Given the description of an element on the screen output the (x, y) to click on. 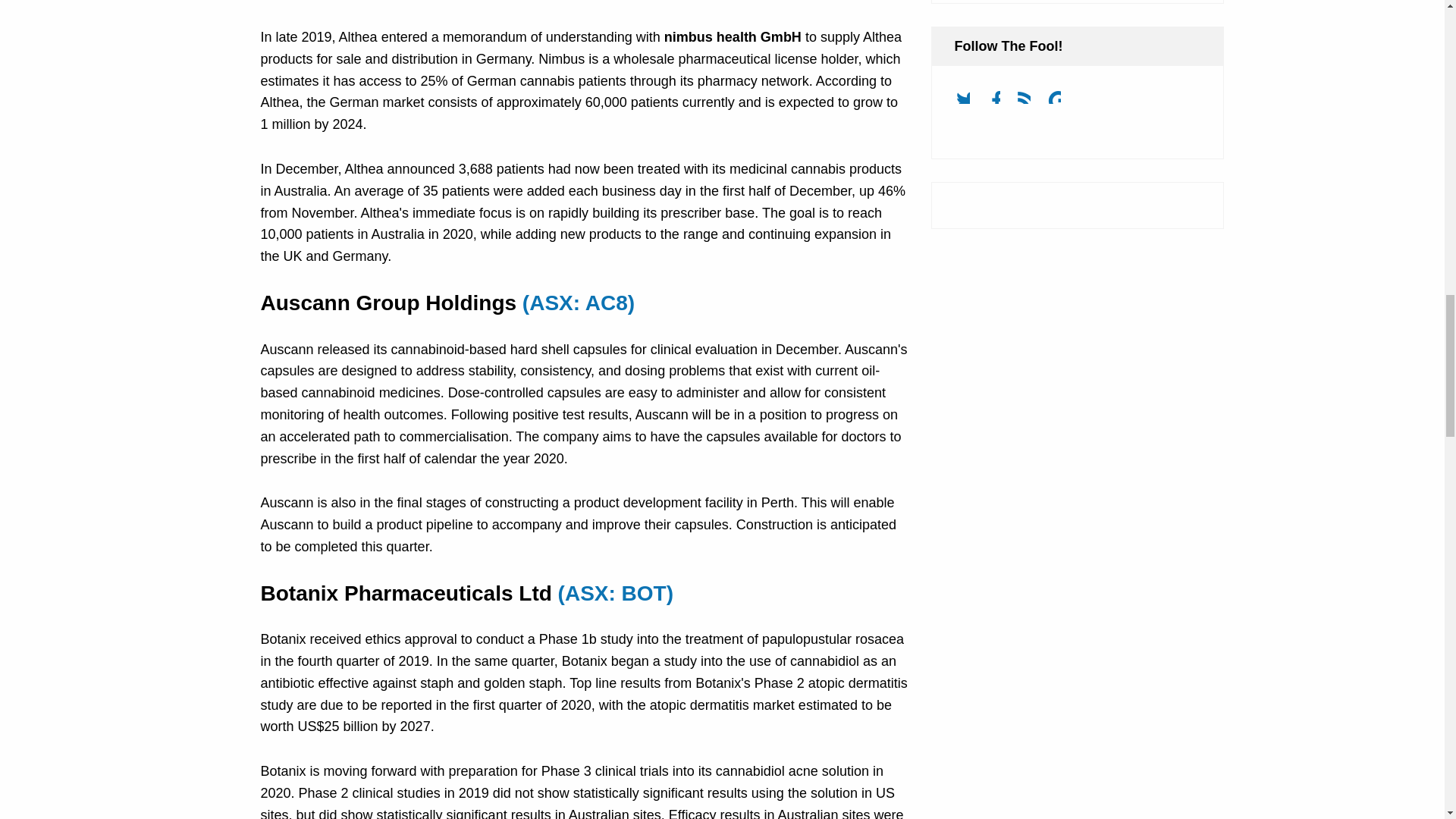
The Motley Fool on Facebook (999, 102)
The Motley Fool RSS Feed (1029, 102)
The Motley Fool on Twitter (968, 102)
The Motley Fool Google News Feed (1060, 102)
